Given the description of an element on the screen output the (x, y) to click on. 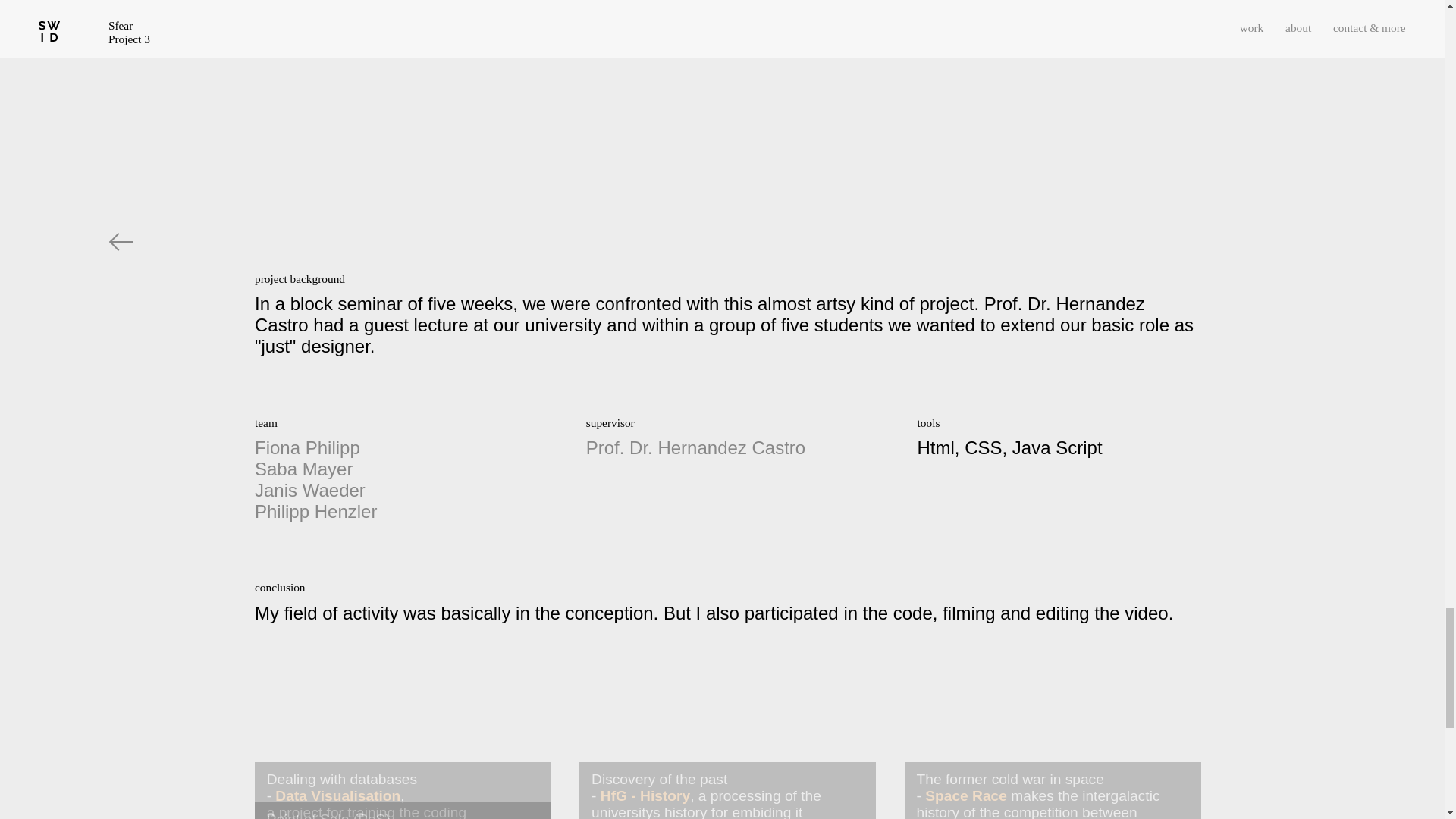
Fiona Philipp (306, 447)
Janis Waeder (309, 489)
Philipp Henzler (315, 511)
Saba Mayer (303, 468)
Prof. Dr. Hernandez Castro (695, 447)
